Given the description of an element on the screen output the (x, y) to click on. 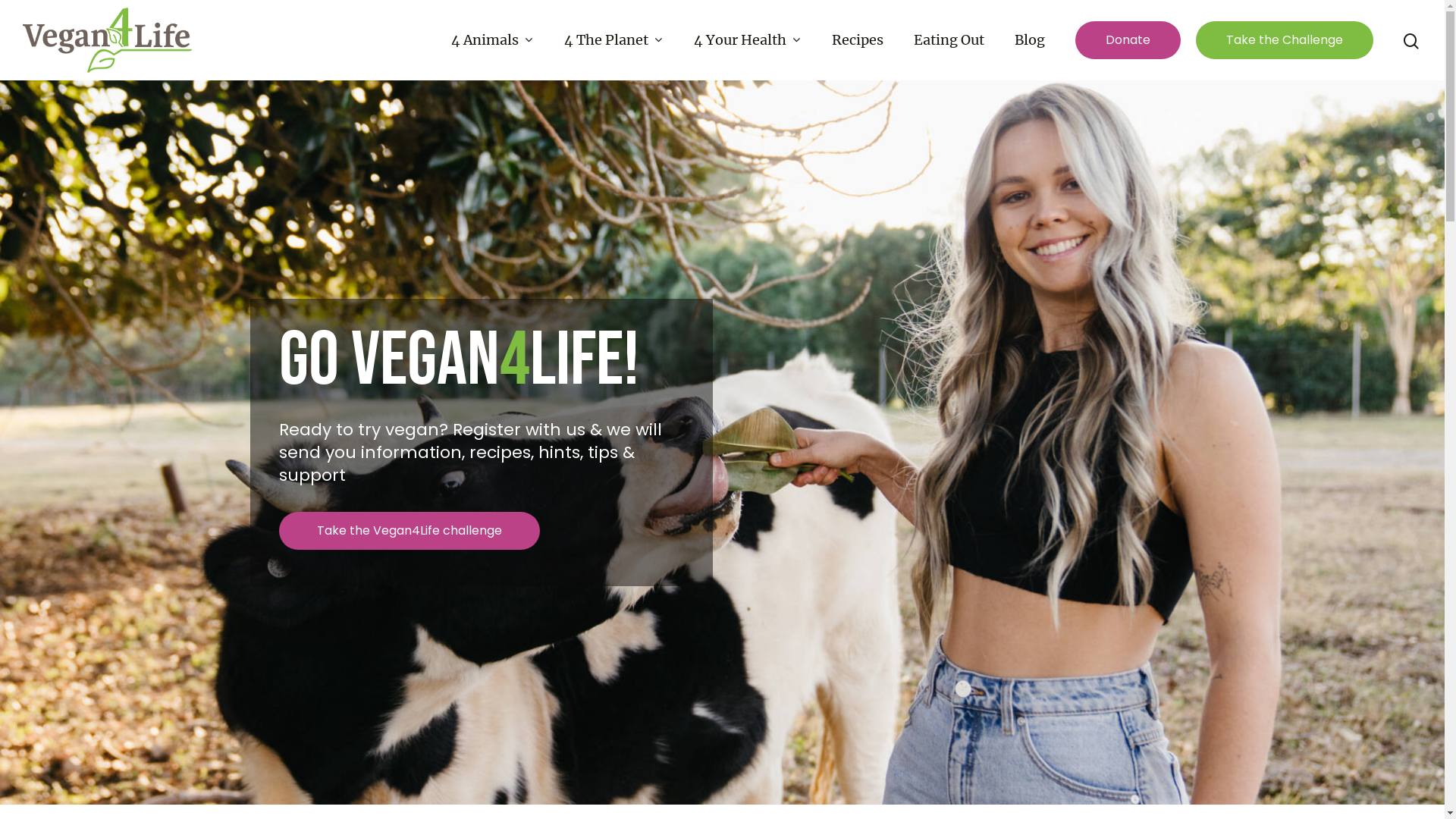
Take the Challenge Element type: text (1284, 40)
4 The Planet Element type: text (613, 40)
4 Your Health Element type: text (747, 40)
Eating Out Element type: text (948, 40)
Donate Element type: text (1127, 40)
Blog Element type: text (1029, 40)
4 Animals Element type: text (492, 40)
Take the Vegan4Life challenge Element type: text (409, 530)
Recipes Element type: text (857, 40)
